Given the description of an element on the screen output the (x, y) to click on. 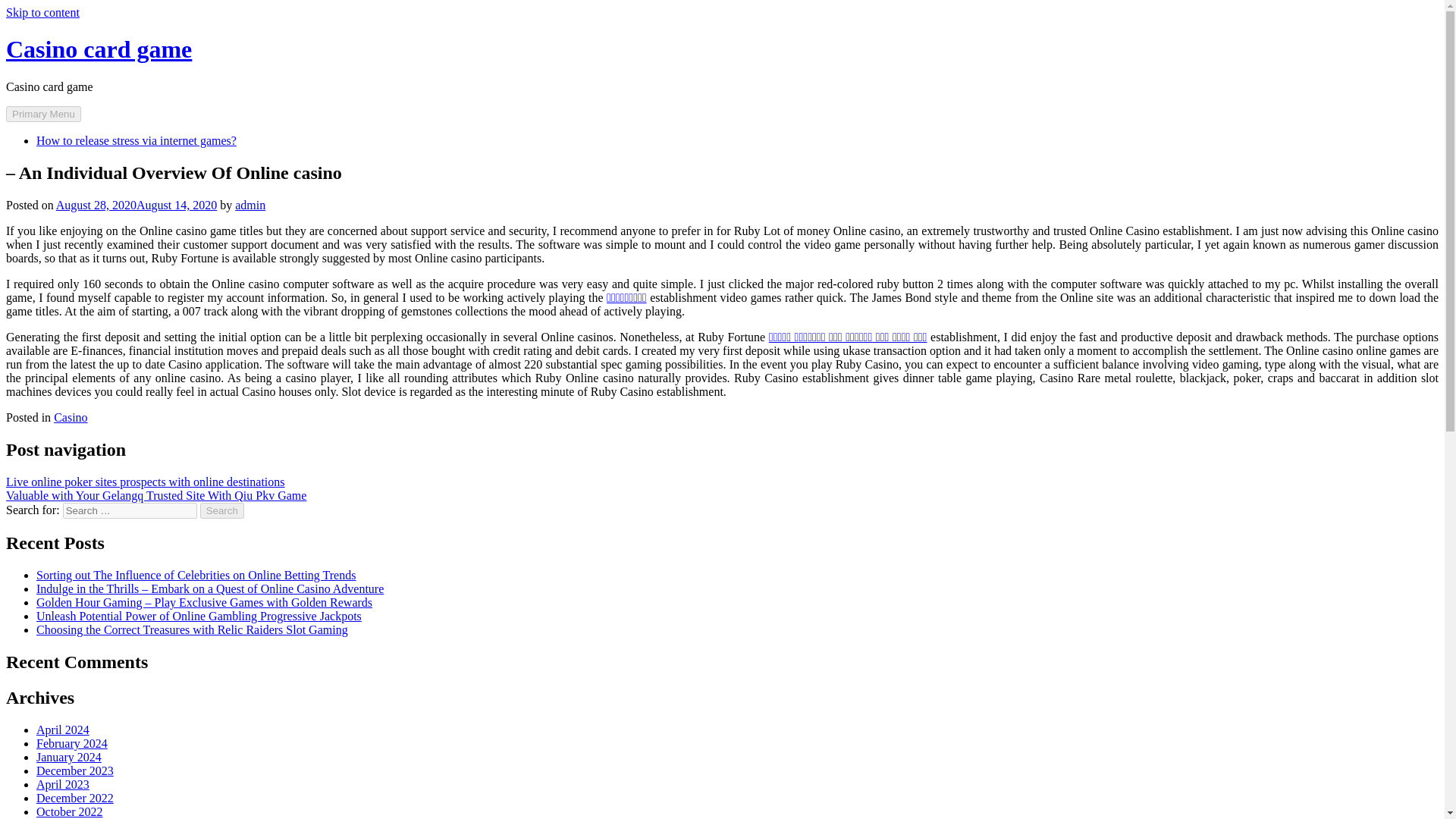
Primary Menu (43, 114)
Search (222, 509)
Live online poker sites prospects with online destinations (145, 481)
October 2022 (69, 811)
February 2024 (71, 743)
January 2024 (68, 757)
December 2022 (74, 797)
Valuable with Your Gelangq Trusted Site With Qiu Pkv Game (155, 494)
How to release stress via internet games? (135, 140)
Search (222, 509)
April 2024 (62, 729)
admin (249, 205)
